Given the description of an element on the screen output the (x, y) to click on. 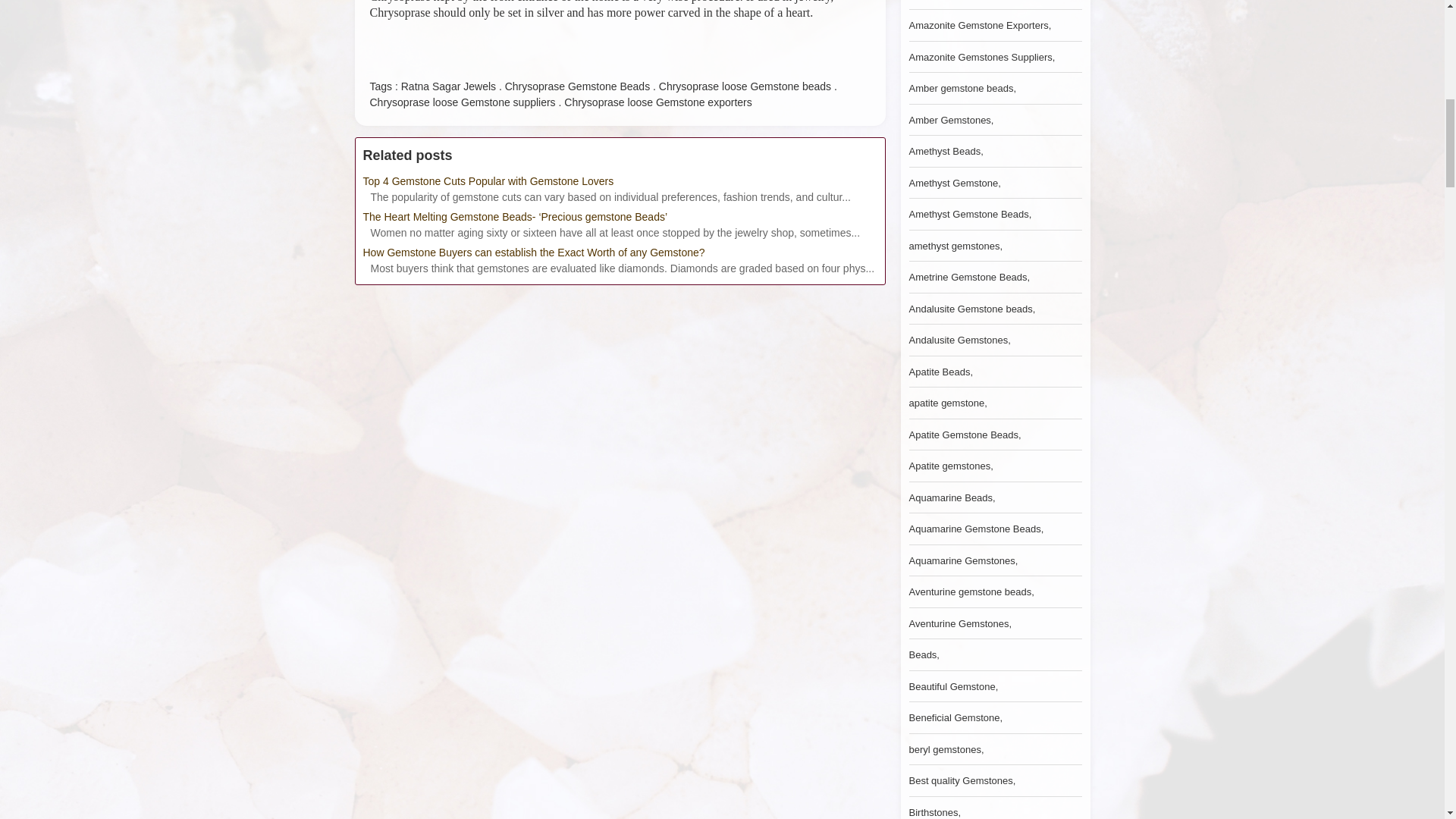
Top 4 Gemstone Cuts Popular with Gemstone Lovers (619, 180)
